Given the description of an element on the screen output the (x, y) to click on. 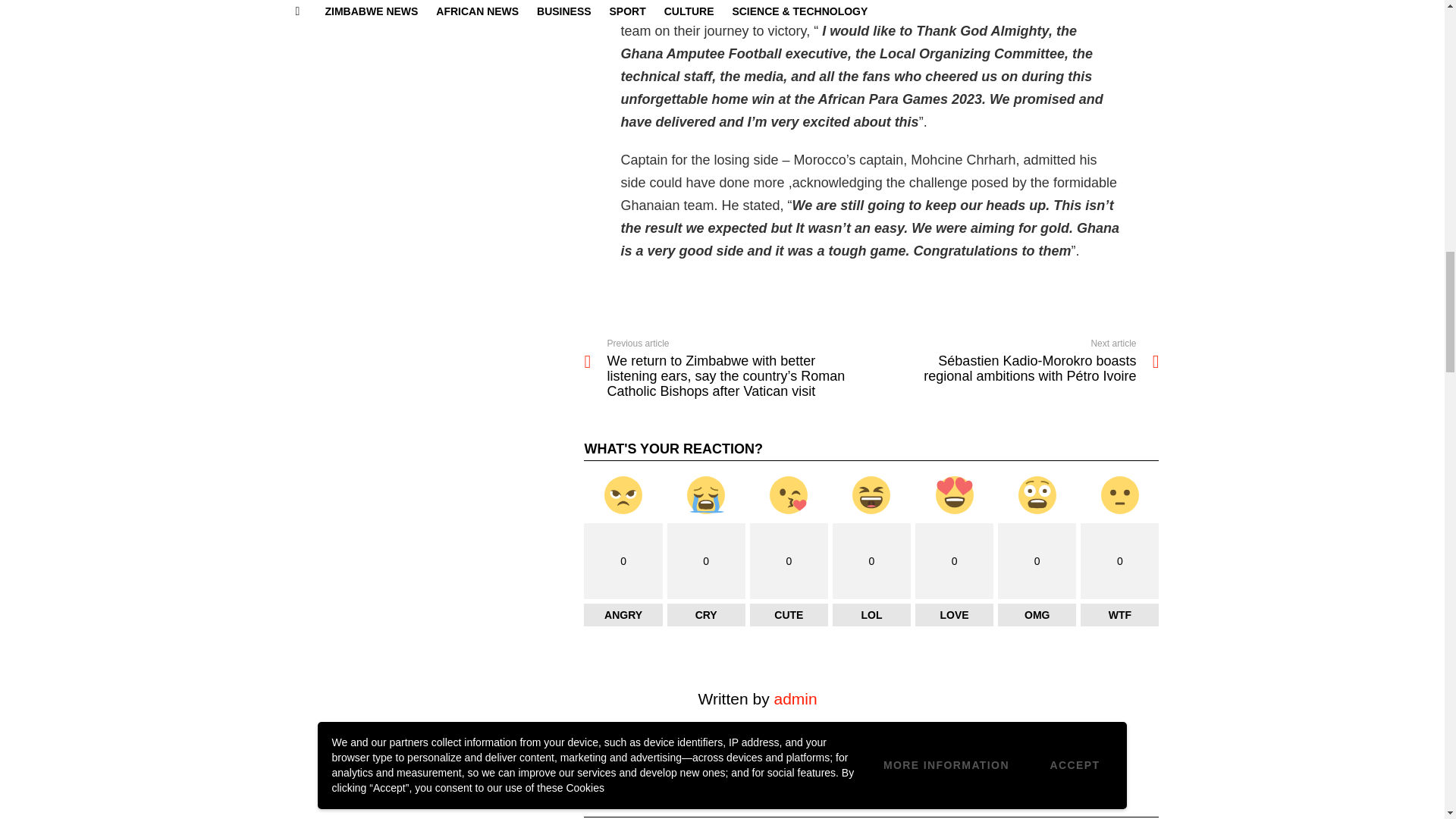
admin (794, 698)
